Given the description of an element on the screen output the (x, y) to click on. 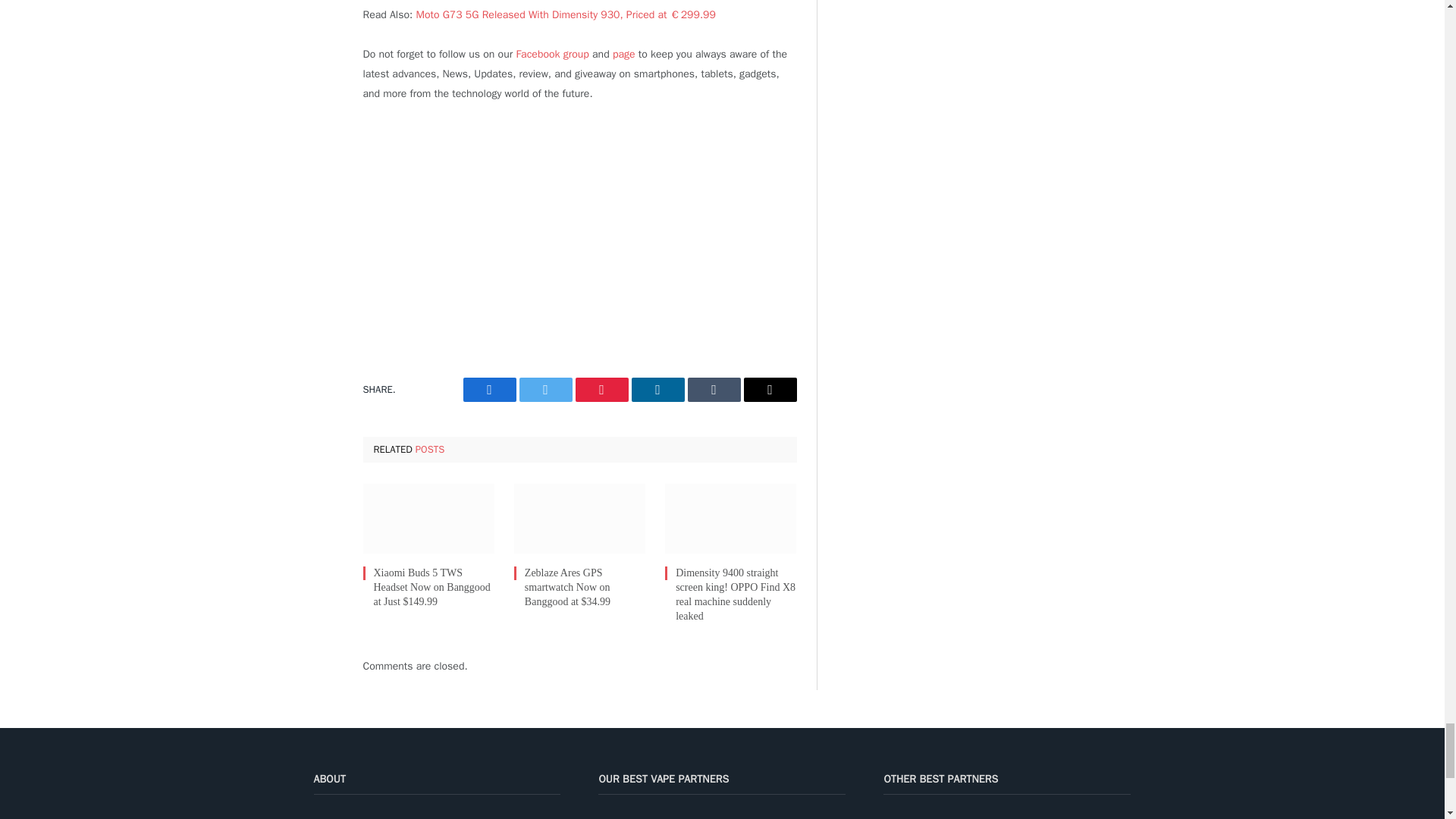
Share on LinkedIn (657, 389)
Share on Facebook (489, 389)
Share on Twitter (545, 389)
Share on Pinterest (601, 389)
